Given the description of an element on the screen output the (x, y) to click on. 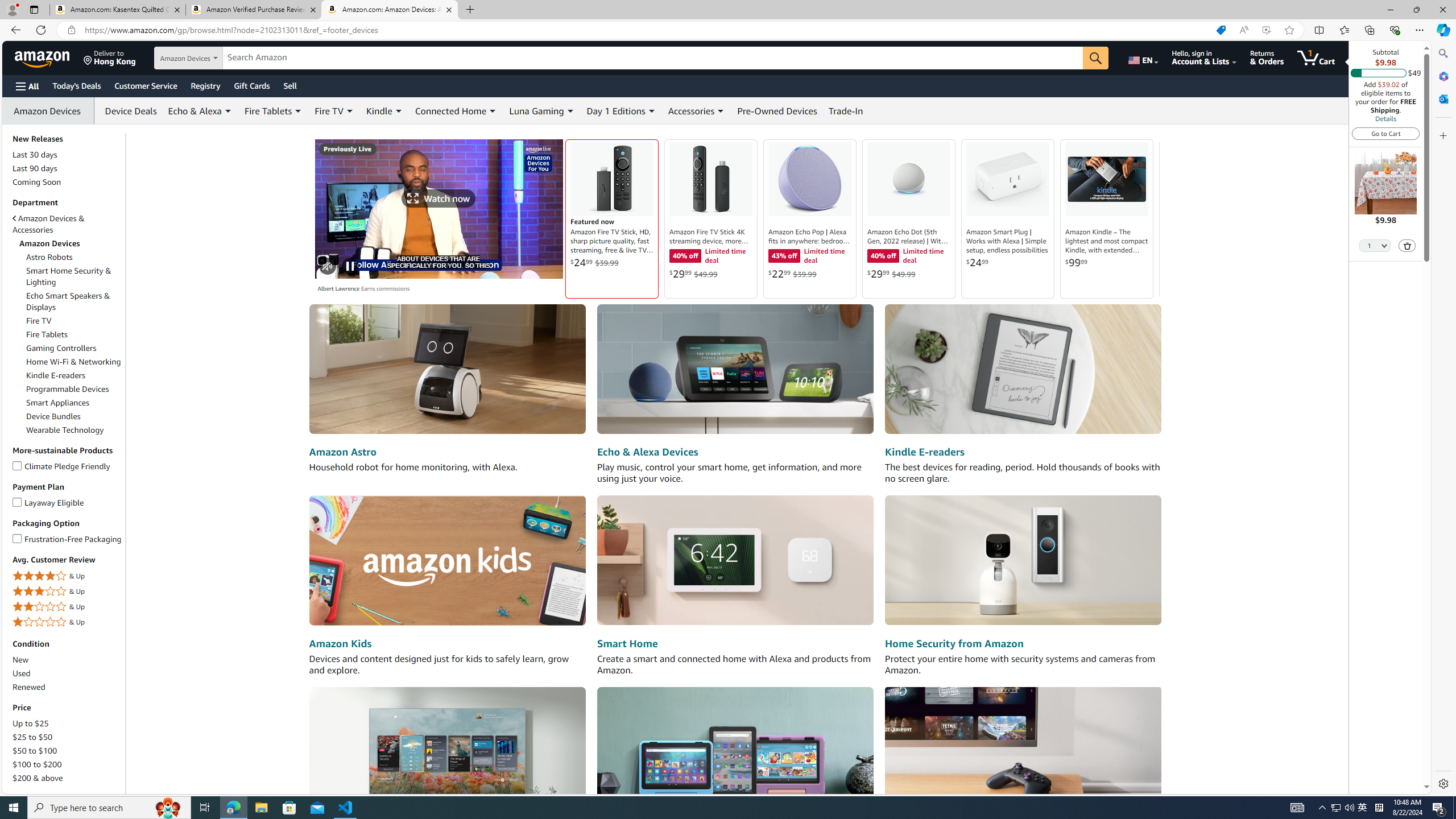
1 Star & Up& Up (67, 621)
Expand Accessories (720, 111)
Accessories (691, 110)
Programmable Devices (74, 388)
Tap Watch now to see broadcast in immersive view (438, 198)
Expand Fire Tablets (298, 111)
Frustration-Free PackagingFrustration-Free Packaging (67, 538)
3 Stars & Up (67, 591)
